Given the description of an element on the screen output the (x, y) to click on. 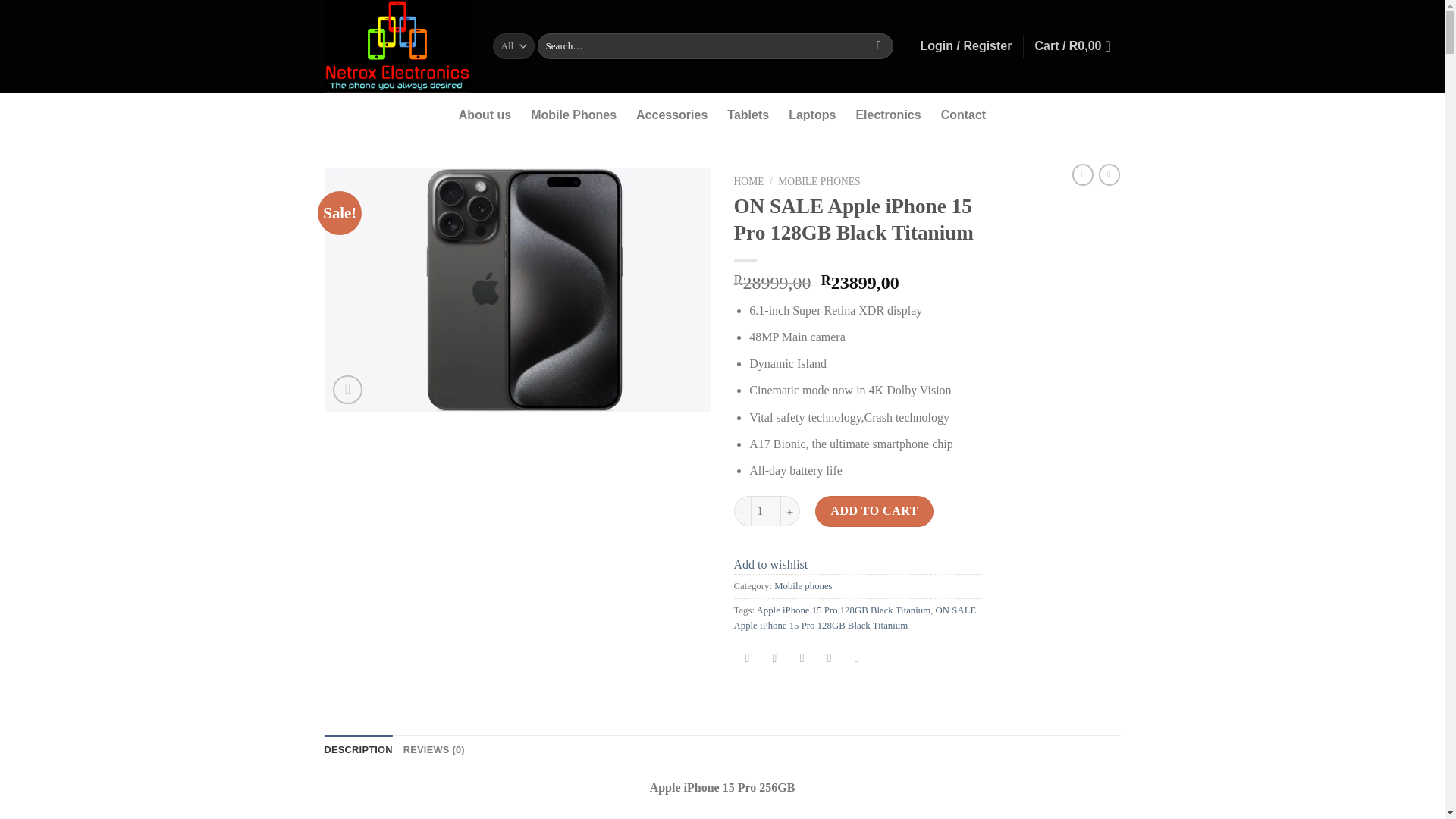
Electronics (888, 114)
Add to wishlist (770, 563)
Share on LinkedIn (856, 659)
Share on Facebook (747, 659)
ADD TO CART (874, 511)
Accessories (671, 114)
Pin on Pinterest (828, 659)
Cart (1076, 46)
About us (484, 114)
1 (765, 511)
